Given the description of an element on the screen output the (x, y) to click on. 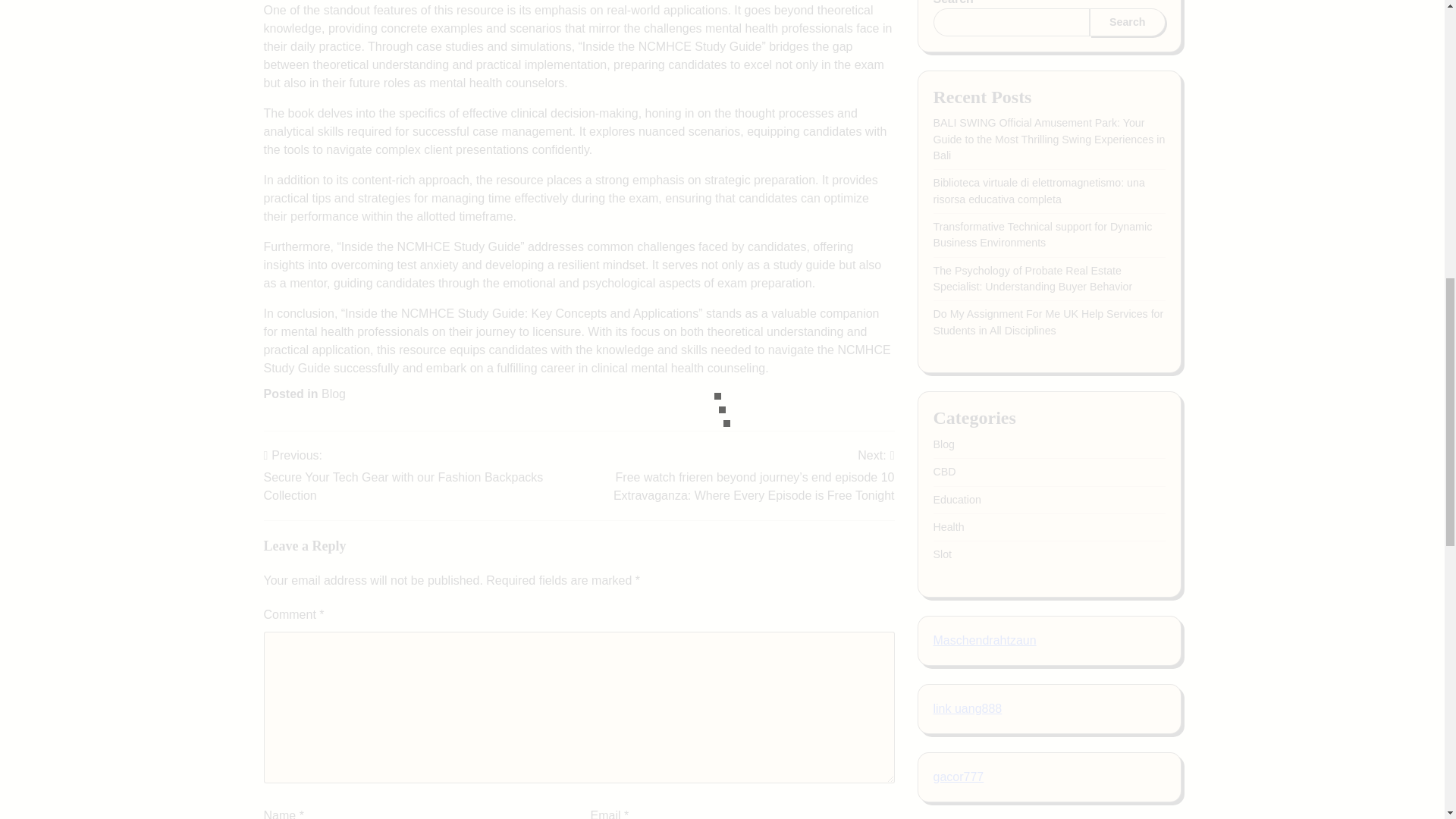
gacor777 (958, 167)
link uang888 (967, 31)
gacor777 (958, 236)
slot (942, 372)
Blog (333, 393)
link slot gacor (970, 304)
gacor777 (958, 99)
